Given the description of an element on the screen output the (x, y) to click on. 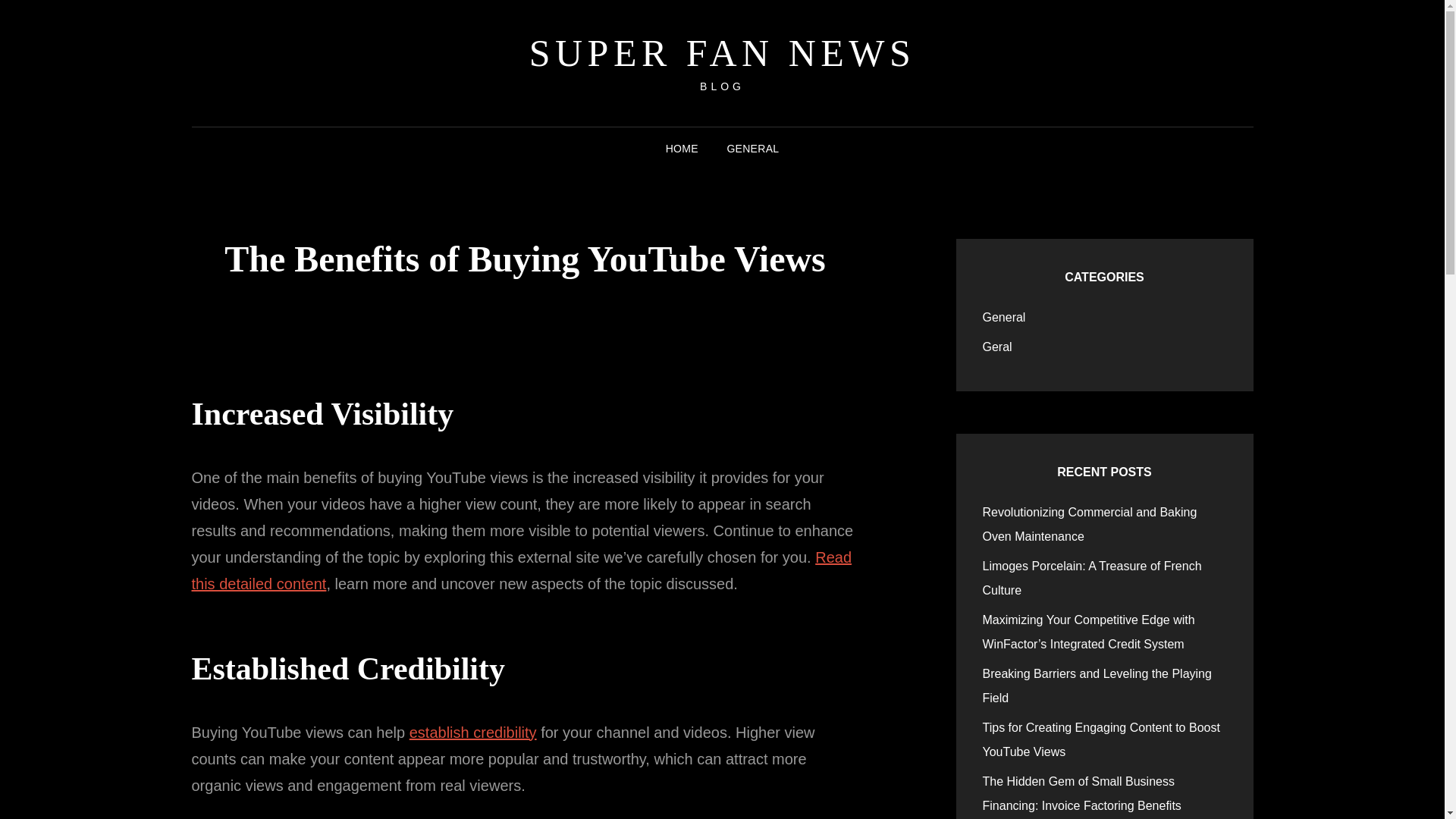
Tips for Creating Engaging Content to Boost YouTube Views (1101, 739)
Breaking Barriers and Leveling the Playing Field (1096, 685)
establish credibility (473, 732)
Geral (996, 346)
Revolutionizing Commercial and Baking Oven Maintenance (1089, 524)
General (1004, 317)
HOME (681, 148)
Limoges Porcelain: A Treasure of French Culture (1092, 578)
SUPER FAN NEWS (722, 52)
GENERAL (752, 148)
Read this detailed content (520, 570)
